Given the description of an element on the screen output the (x, y) to click on. 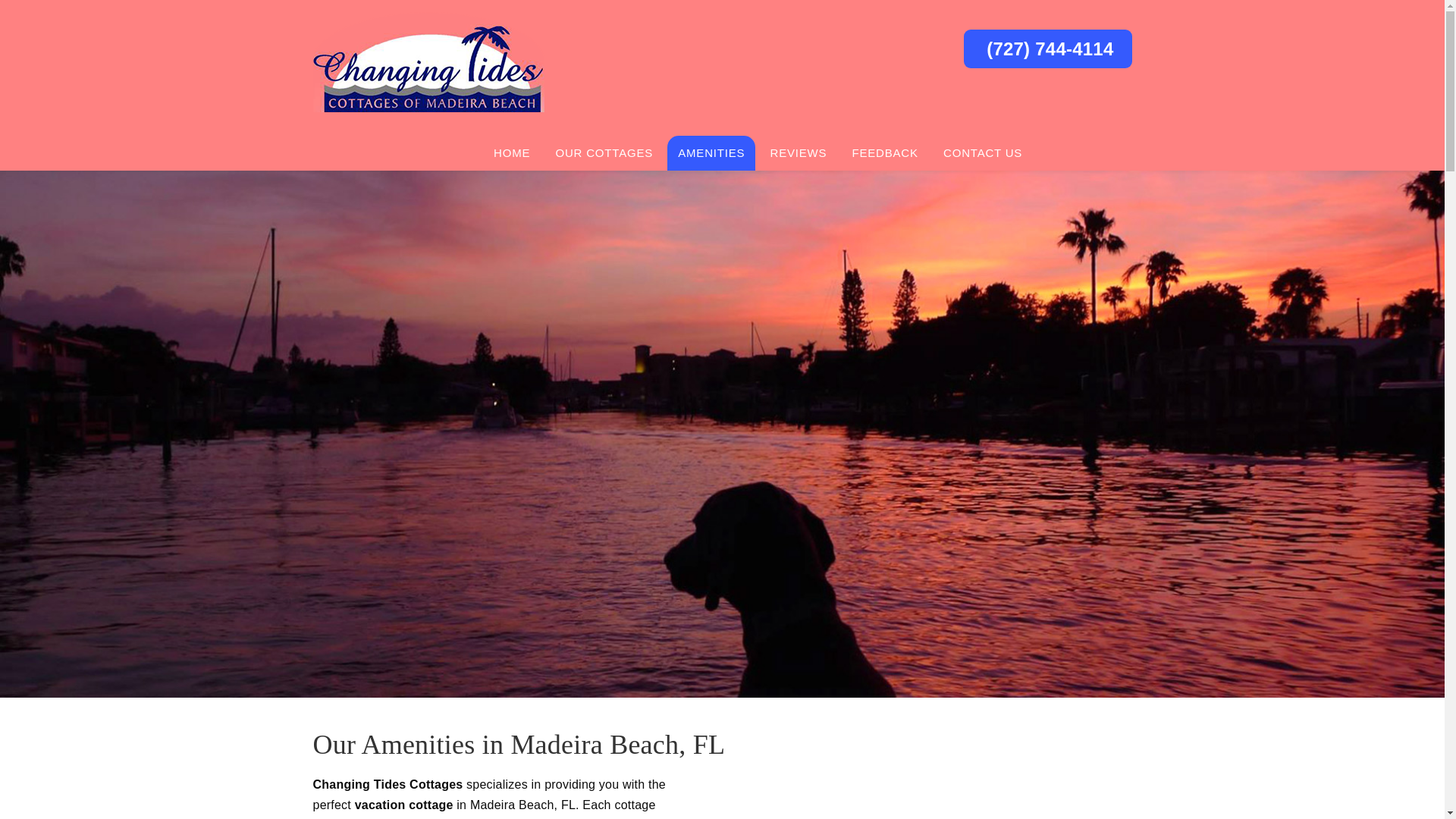
AMENITIES (710, 152)
HOME (511, 152)
CONTACT US (982, 152)
REVIEWS (799, 152)
FEEDBACK (884, 152)
OUR COTTAGES (603, 152)
Changing Tides Cottages (388, 784)
vacation cottage (403, 804)
